Given the description of an element on the screen output the (x, y) to click on. 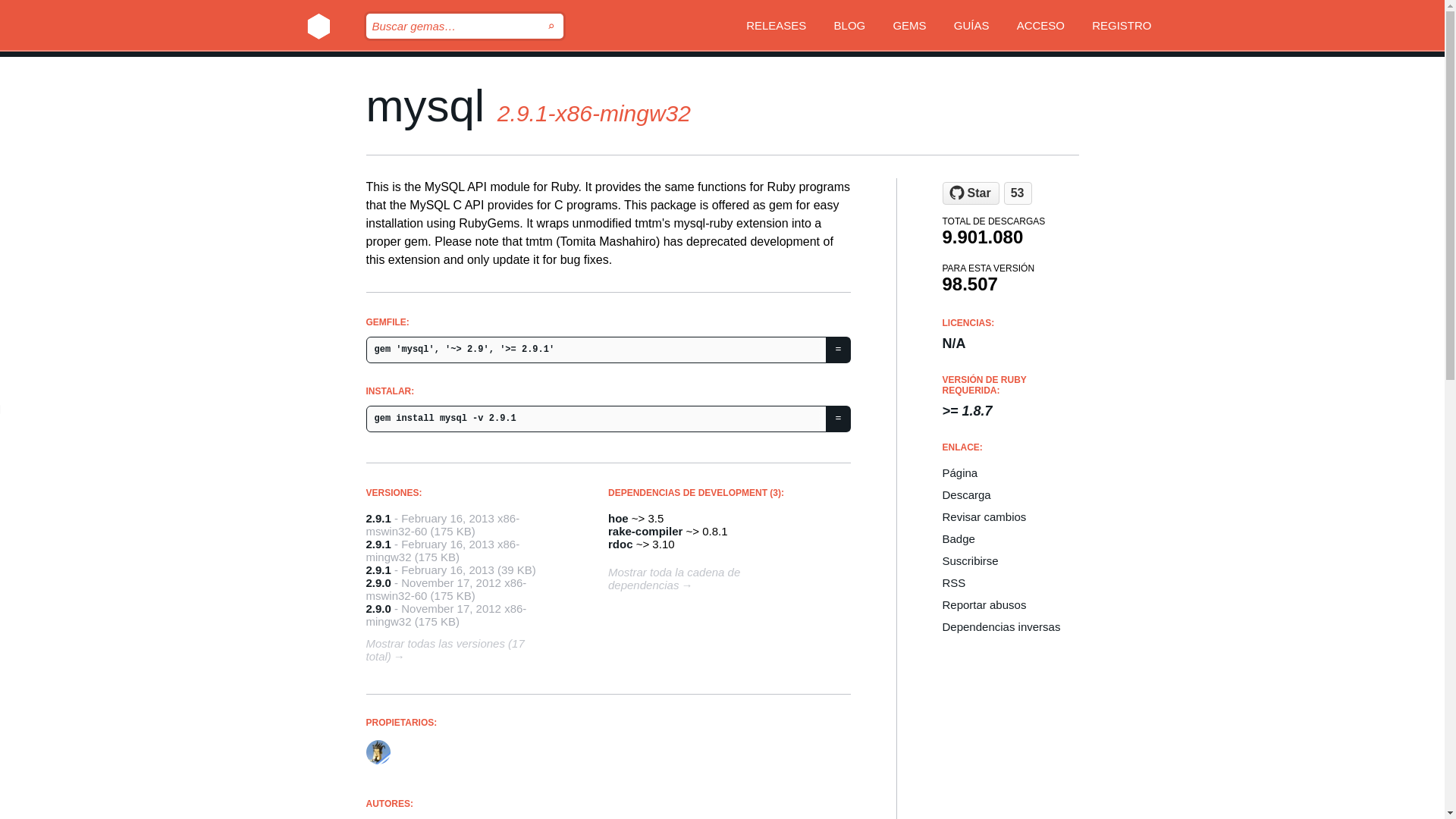
2.9.0 (377, 608)
hoe (618, 517)
Reportar abusos (1010, 604)
53 (1018, 192)
rdoc (620, 543)
rake-compiler (645, 530)
BLOG (850, 27)
2.9.0 (377, 582)
Badge (1010, 538)
Mostrar toda la cadena de dependencias (706, 582)
luislavena (381, 768)
2.9.1 (377, 543)
2.9.1 (377, 517)
Revisar cambios (1010, 516)
Descarga (1010, 494)
